Given the description of an element on the screen output the (x, y) to click on. 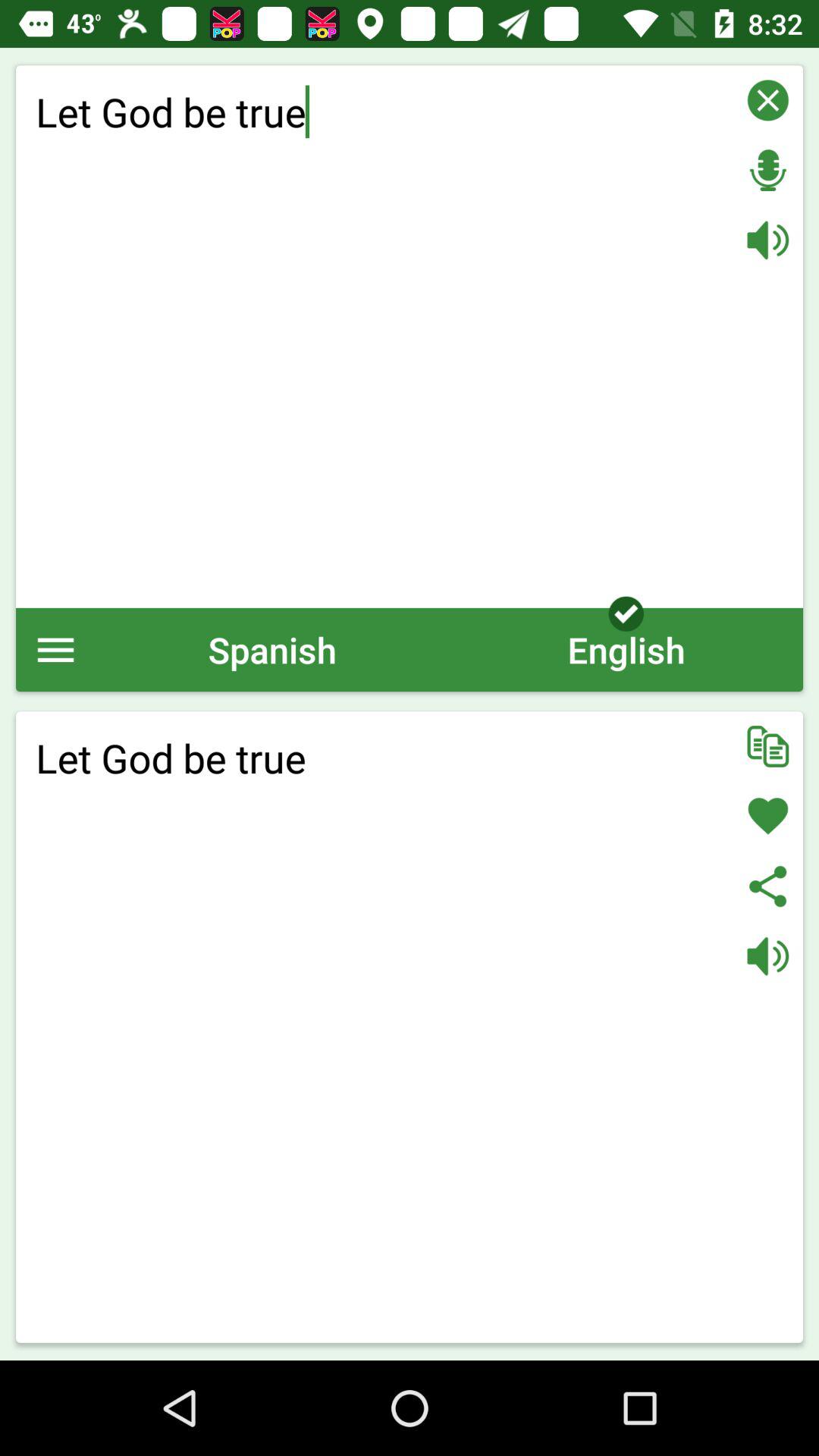
toggle alternate text (768, 746)
